Given the description of an element on the screen output the (x, y) to click on. 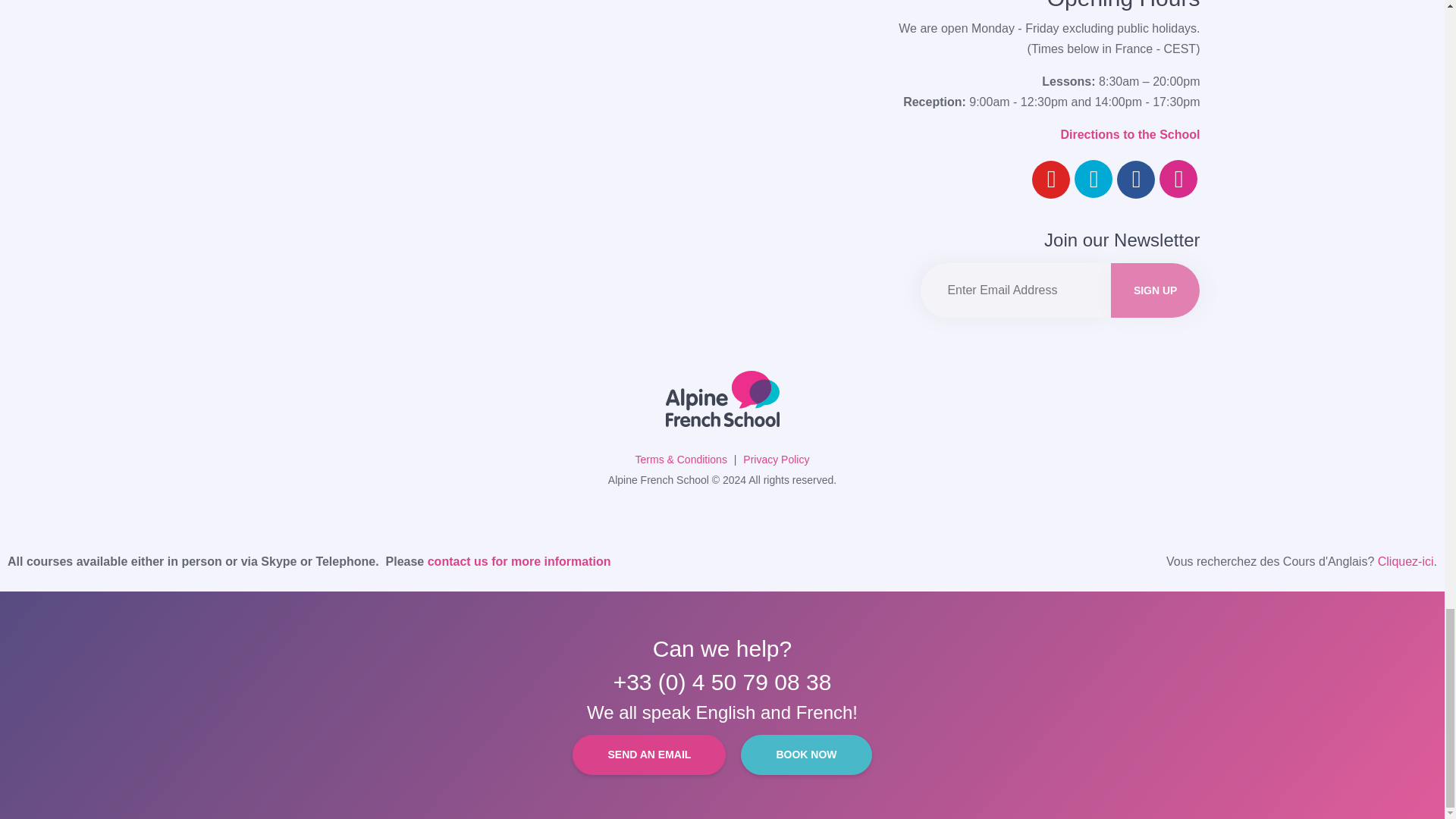
Sign up (1154, 289)
